Given the description of an element on the screen output the (x, y) to click on. 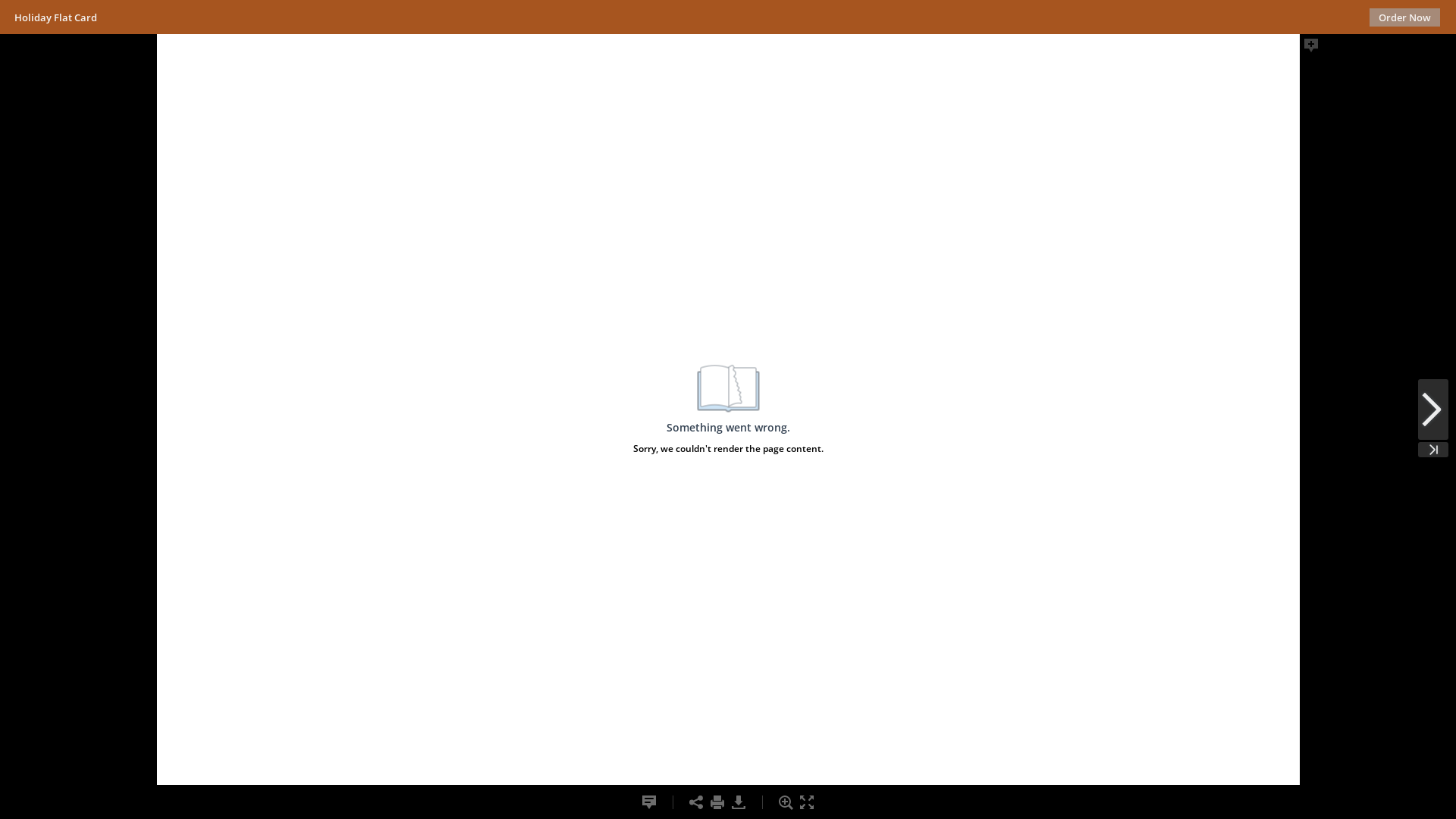
Share Element type: hover (695, 801)
Download Element type: hover (738, 801)
Last Page Element type: hover (1433, 449)
Print Element type: hover (717, 801)
Zoom In Element type: hover (785, 801)
Next Page Element type: hover (1433, 409)
Fullscreen Element type: hover (806, 801)
Order Now Element type: text (1404, 17)
Notes Element type: hover (648, 801)
Add Note Element type: hover (1310, 45)
